Given the description of an element on the screen output the (x, y) to click on. 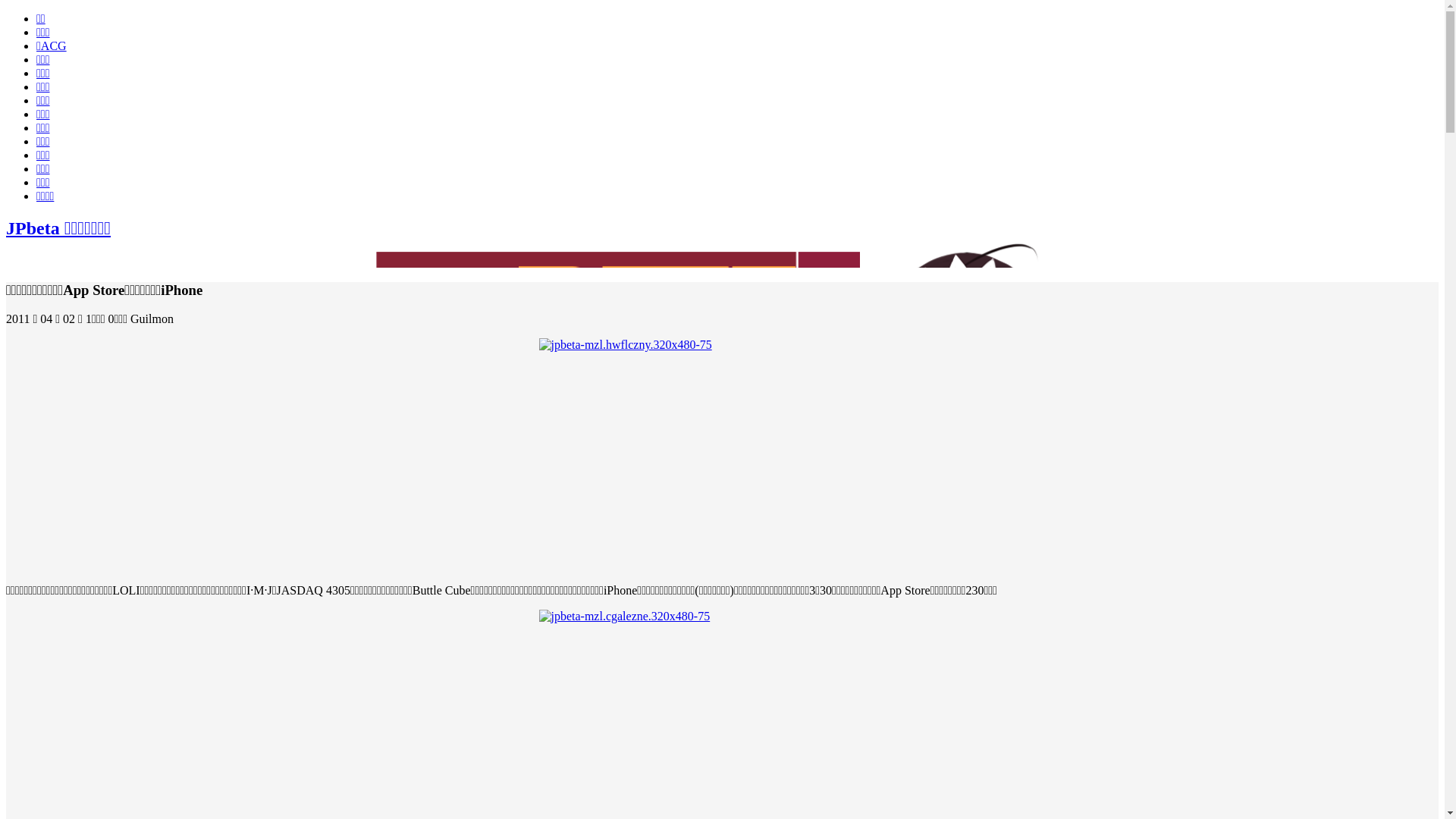
jpbeta-mzl.hwflczny.320x480-75 Element type: hover (721, 460)
